Given the description of an element on the screen output the (x, y) to click on. 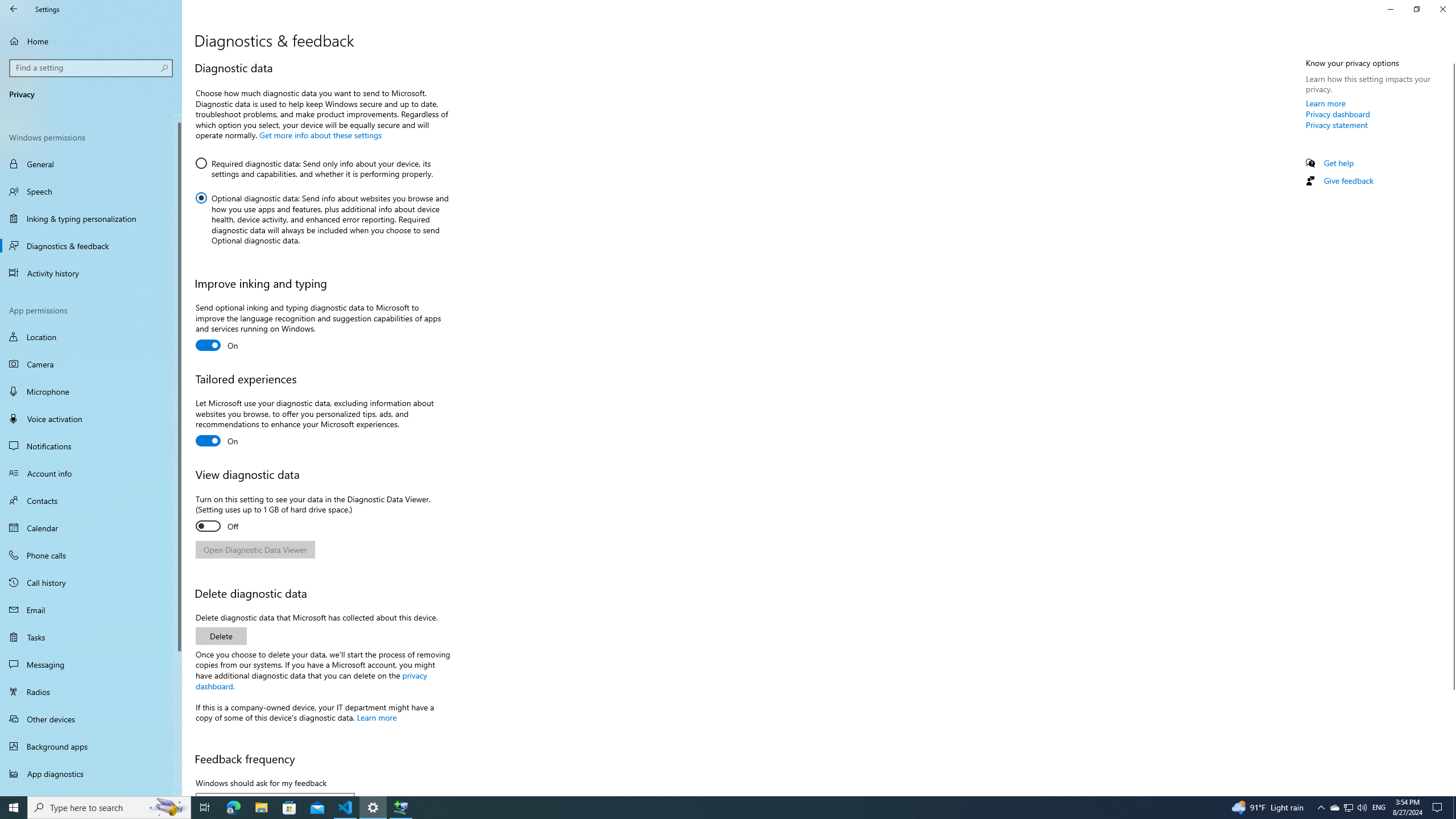
Email (91, 609)
Calendar (91, 527)
Show desktop (1454, 807)
Home (91, 40)
Search box, Find a setting (91, 67)
Phone calls (91, 554)
Location (91, 336)
Call history (91, 582)
Action Center, No new notifications (1439, 807)
General (91, 163)
Visual Studio Code - 1 running window (345, 807)
Restore Settings (1416, 9)
Give feedback (1348, 180)
